Given the description of an element on the screen output the (x, y) to click on. 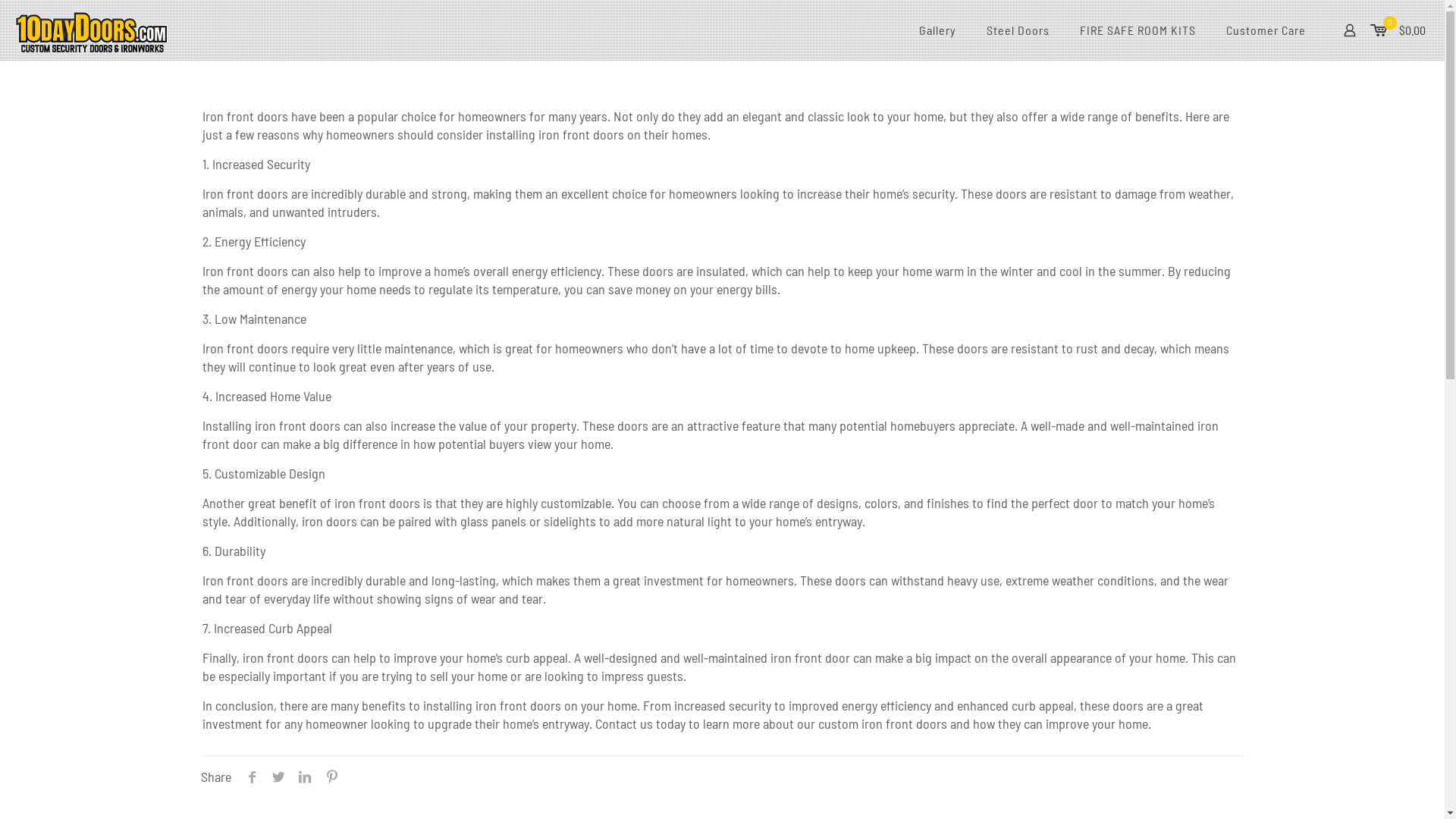
Steel Doors Element type: text (1017, 30)
Gallery Element type: text (937, 30)
10DayDoors.com Element type: hover (91, 30)
Customer Care Element type: text (1266, 30)
FIRE SAFE ROOM KITS Element type: text (1137, 30)
0
$0.00 Element type: text (1398, 29)
